Given the description of an element on the screen output the (x, y) to click on. 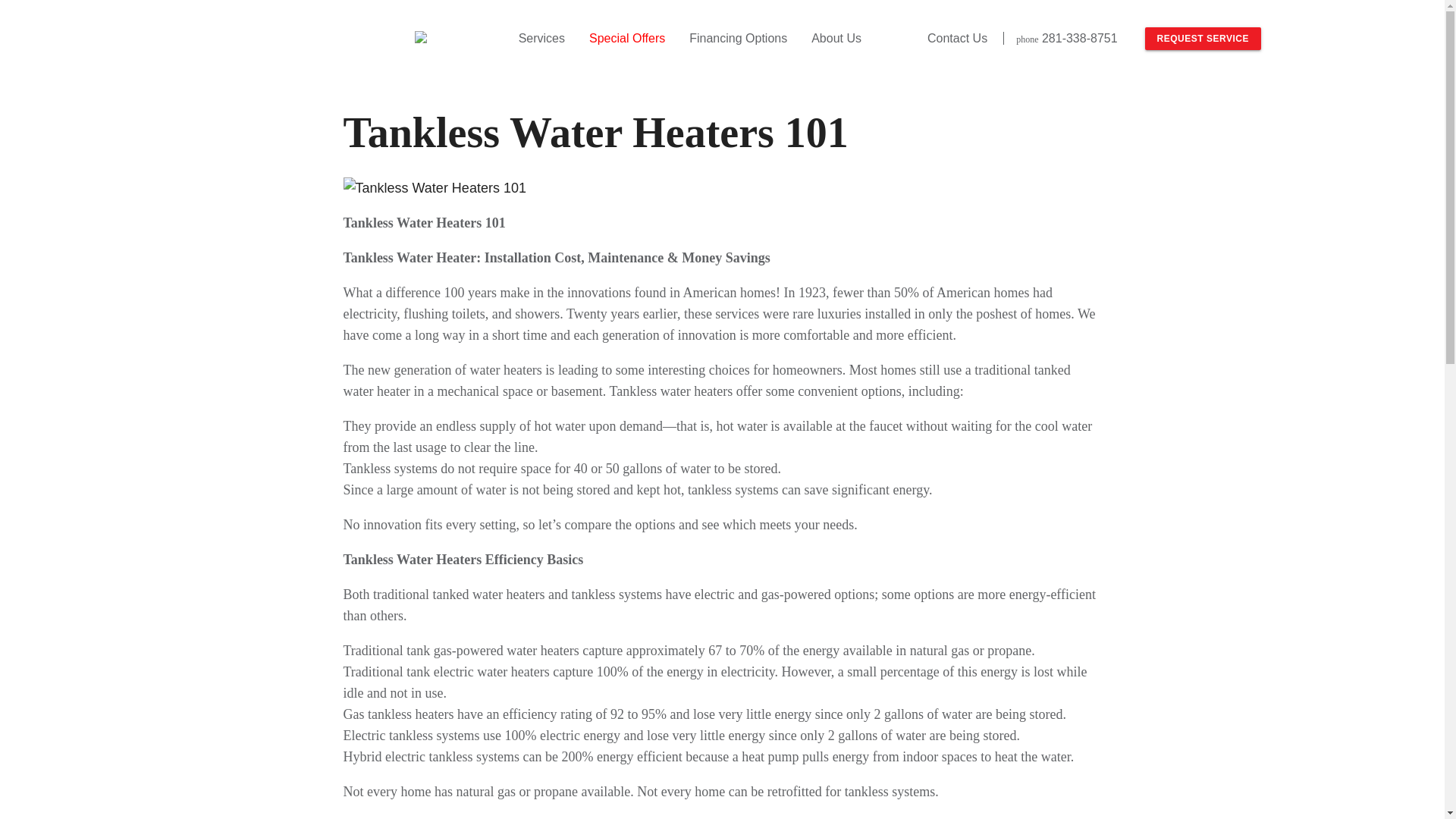
phone 281-338-8751 (1066, 38)
Financing Options (738, 37)
Services (541, 37)
Contact Us (956, 38)
REQUEST SERVICE (1202, 38)
About Us (836, 37)
AC Repair, AC Maintenance, AC Installation, AC Replacement (433, 188)
Special Offers (626, 37)
